Given the description of an element on the screen output the (x, y) to click on. 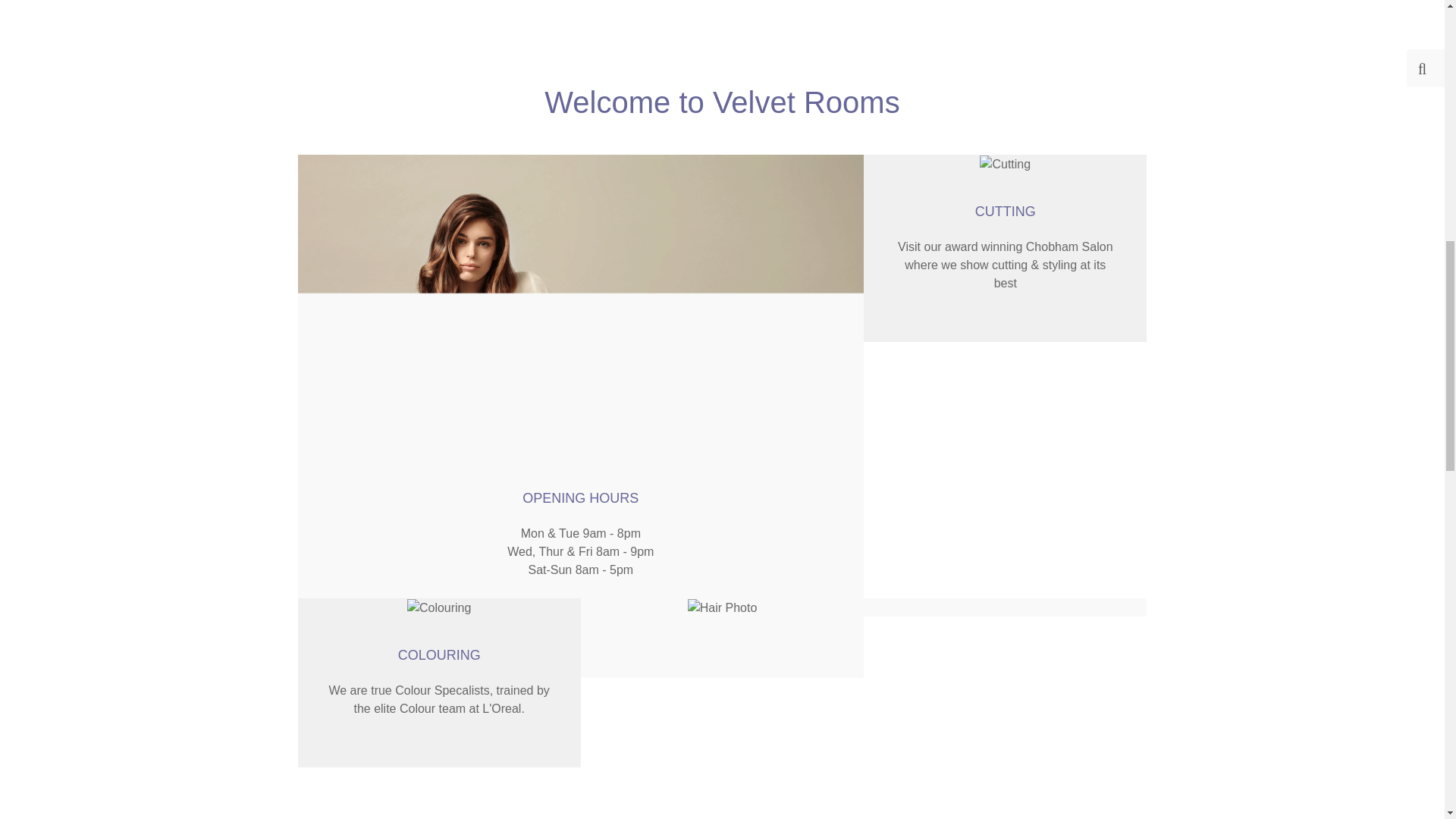
OPENING HOURS (580, 498)
CUTTING (1005, 211)
COLOURING (438, 654)
